Given the description of an element on the screen output the (x, y) to click on. 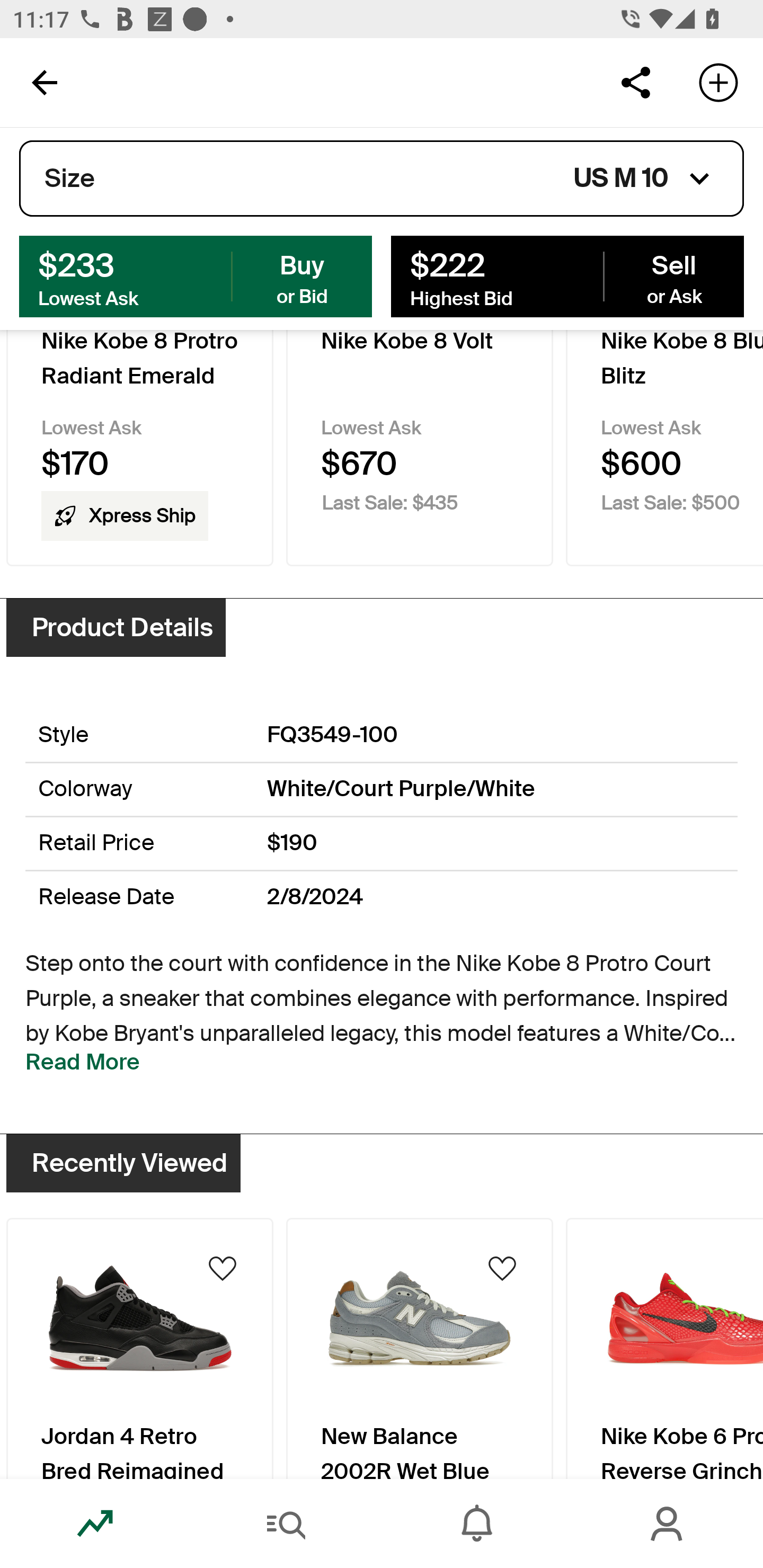
Share (635, 81)
Add (718, 81)
Size US M 10 (381, 178)
$233 Buy Lowest Ask or Bid (195, 275)
$222 Sell Highest Bid or Ask (566, 275)
Nike Kobe 8 Volt Lowest Ask $670 Last Sale: $435 (419, 447)
Read More (82, 1061)
Product Image Jordan 11 Retro DMP Gratitude (2023) (139, 1349)
Product Image Nike Kobe 6 Protro Reverse Grinch (419, 1349)
Product Image adidas Yeezy Slide Slate Grey (664, 1349)
Search (285, 1523)
Inbox (476, 1523)
Account (667, 1523)
